Given the description of an element on the screen output the (x, y) to click on. 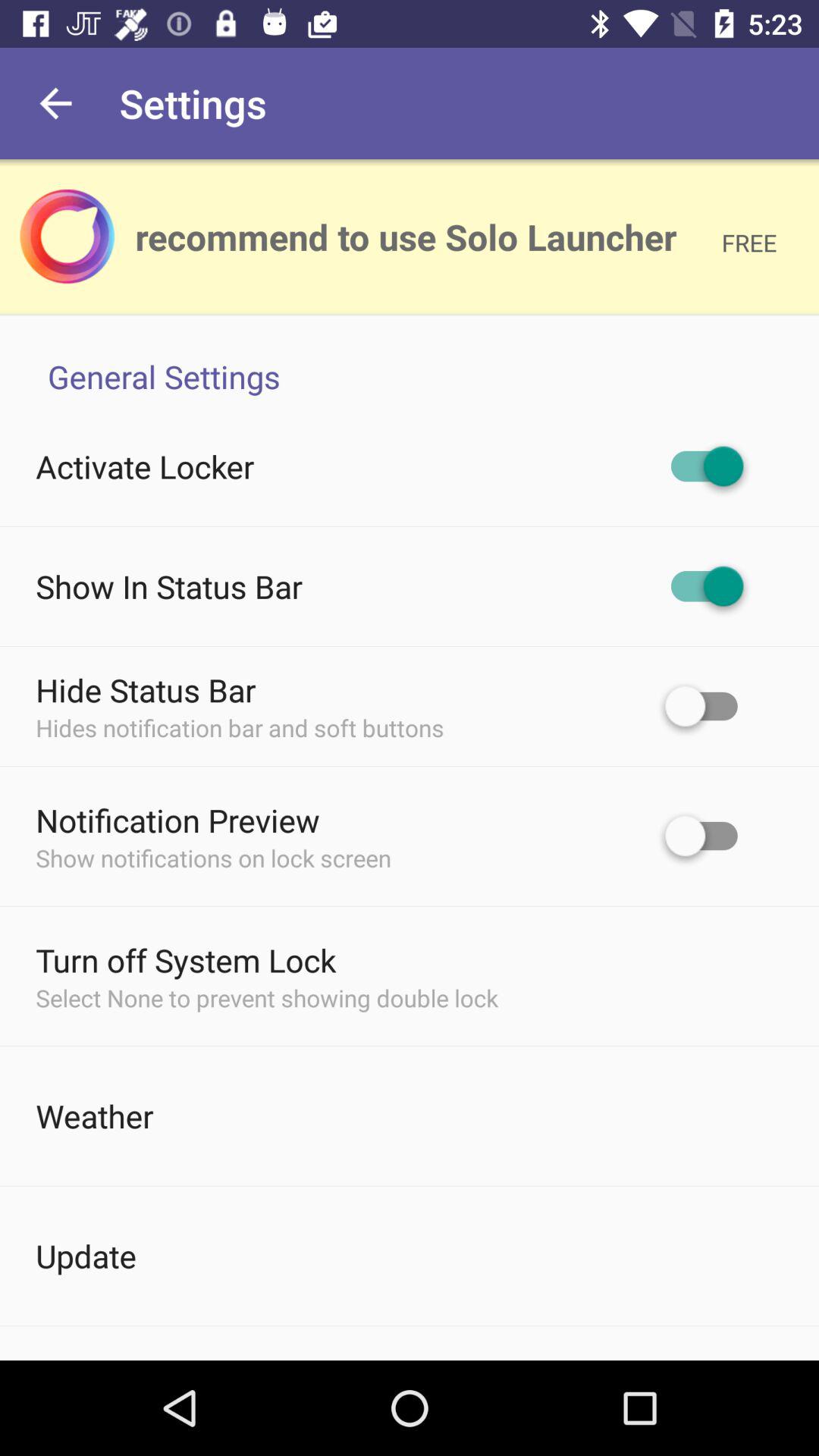
select the icon next to settings icon (55, 103)
